Given the description of an element on the screen output the (x, y) to click on. 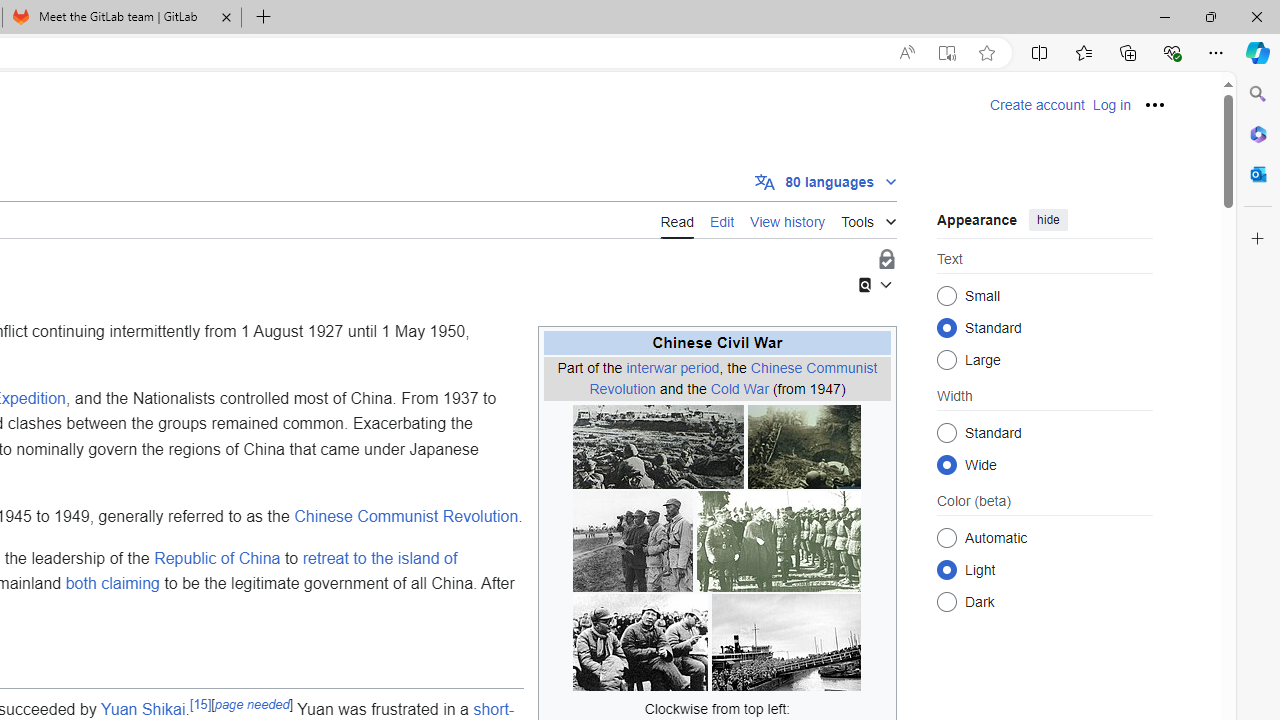
Log in (1111, 105)
View history (787, 219)
Small (946, 295)
[15] (200, 704)
